Given the description of an element on the screen output the (x, y) to click on. 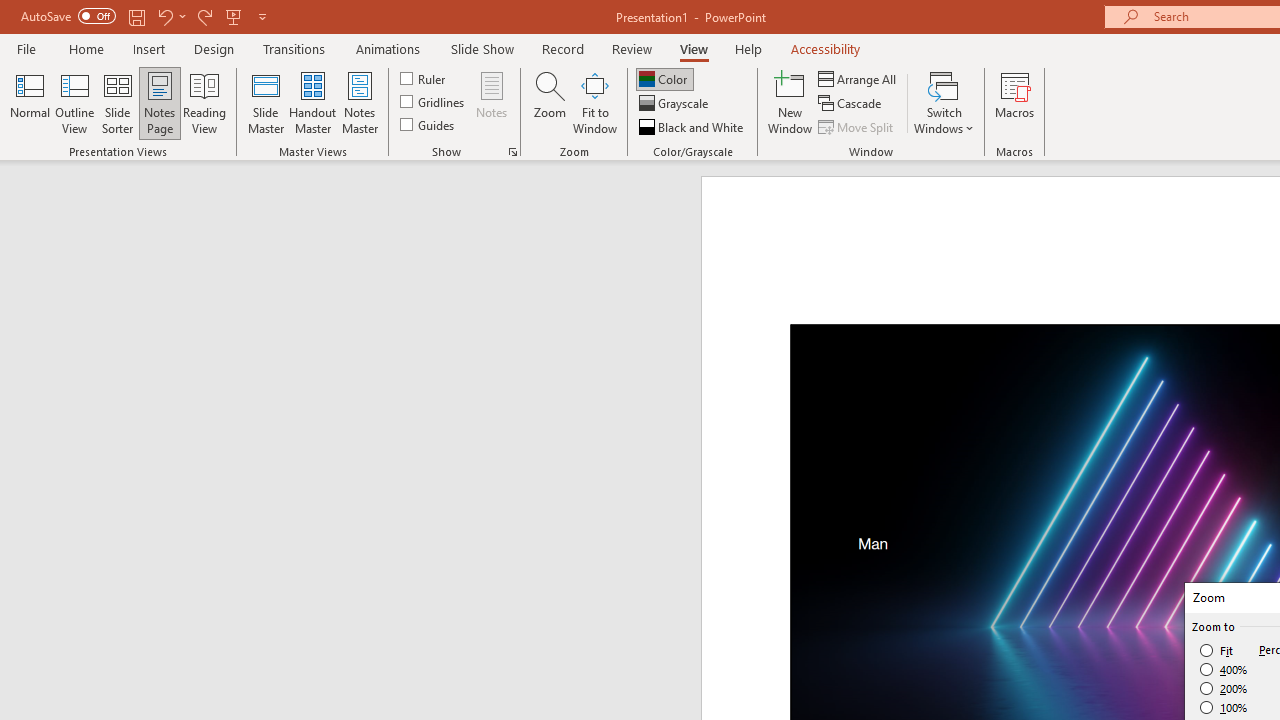
Zoom... (549, 102)
200% (1224, 688)
Notes Page (159, 102)
Move Split (857, 126)
Handout Master (312, 102)
Slide Master (265, 102)
Grid Settings... (512, 151)
